Given the description of an element on the screen output the (x, y) to click on. 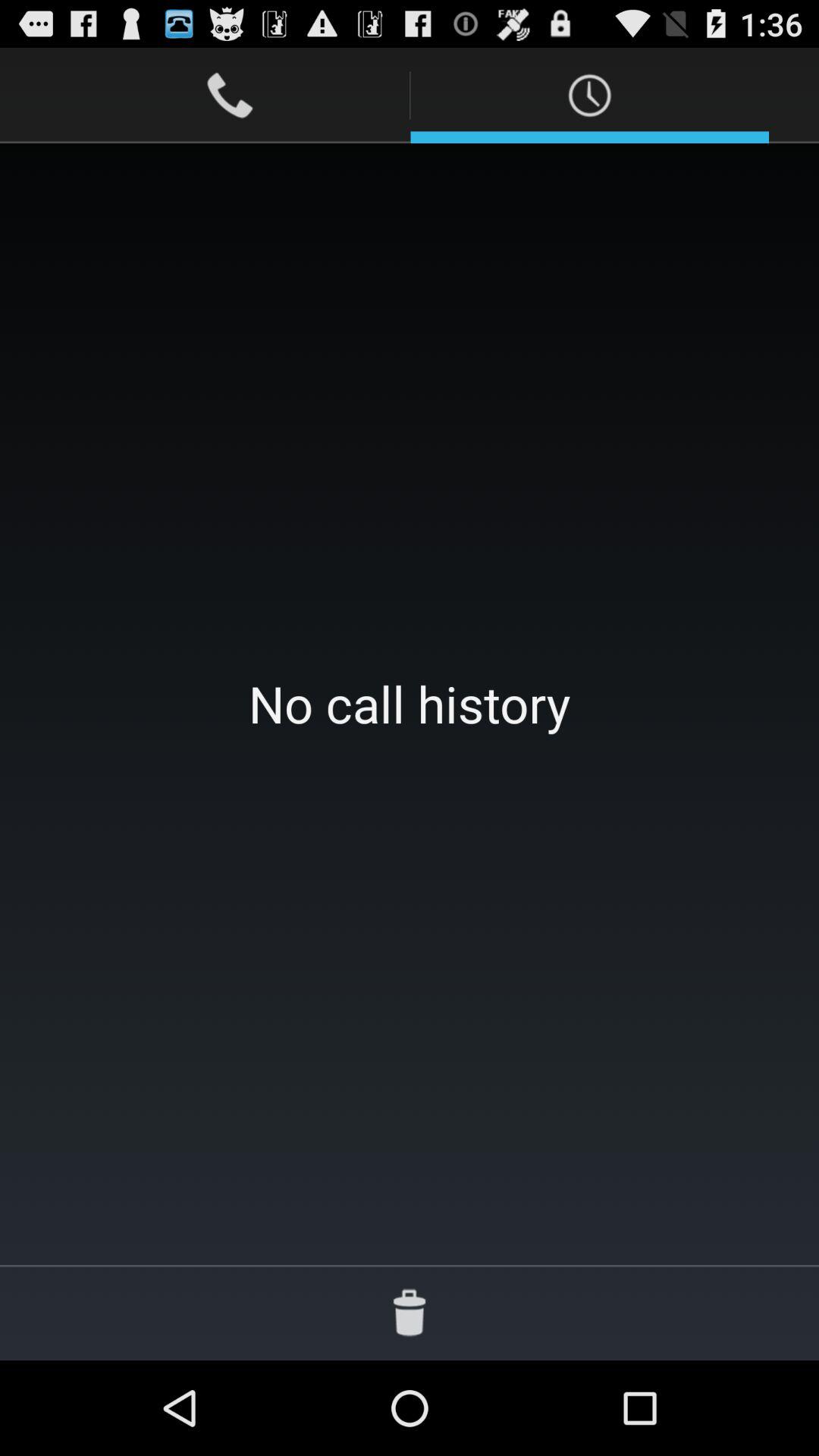
launch the icon at the bottom (409, 1312)
